Given the description of an element on the screen output the (x, y) to click on. 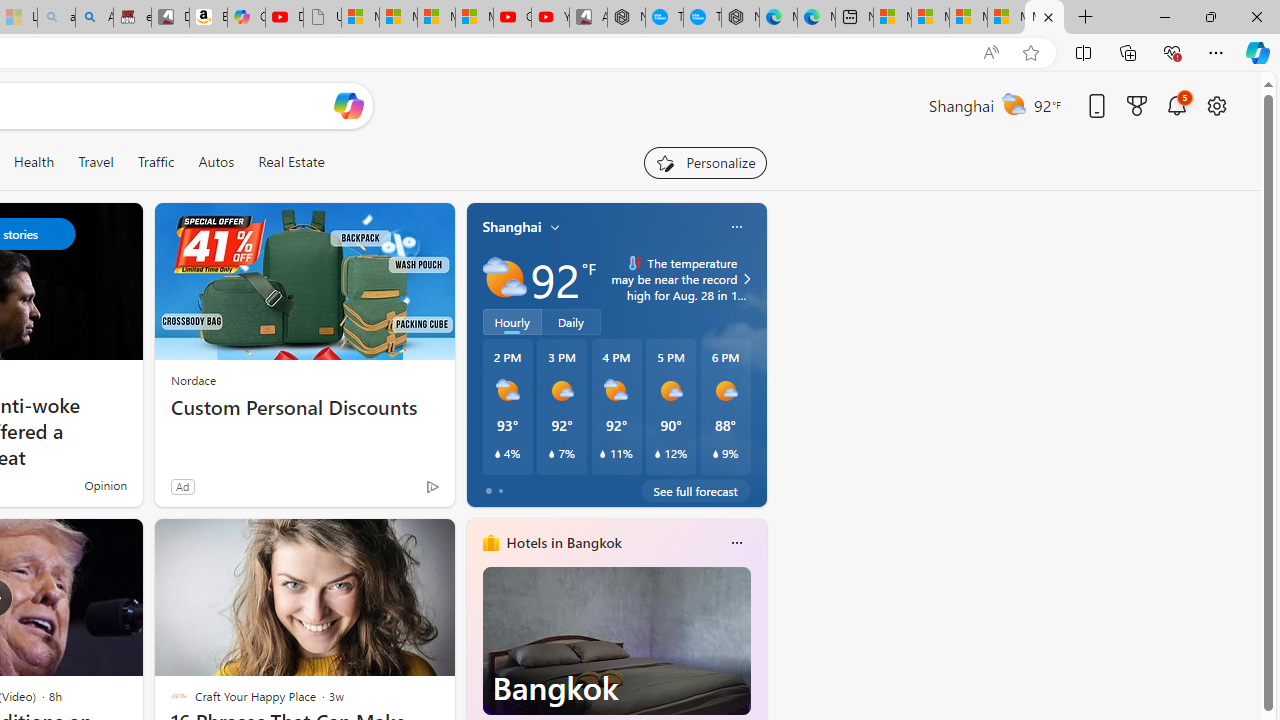
YouTube Kids - An App Created for Kids to Explore Content (550, 17)
Collections (1128, 52)
Personalize your feed" (704, 162)
All Cubot phones (587, 17)
Copilot (245, 17)
Nordace - Nordace has arrived Hong Kong (740, 17)
Autos (215, 161)
More options (736, 543)
Real Estate (290, 162)
Travel (95, 161)
Settings and more (Alt+F) (1215, 52)
Day 1: Arriving in Yemen (surreal to be here) - YouTube (284, 17)
